Given the description of an element on the screen output the (x, y) to click on. 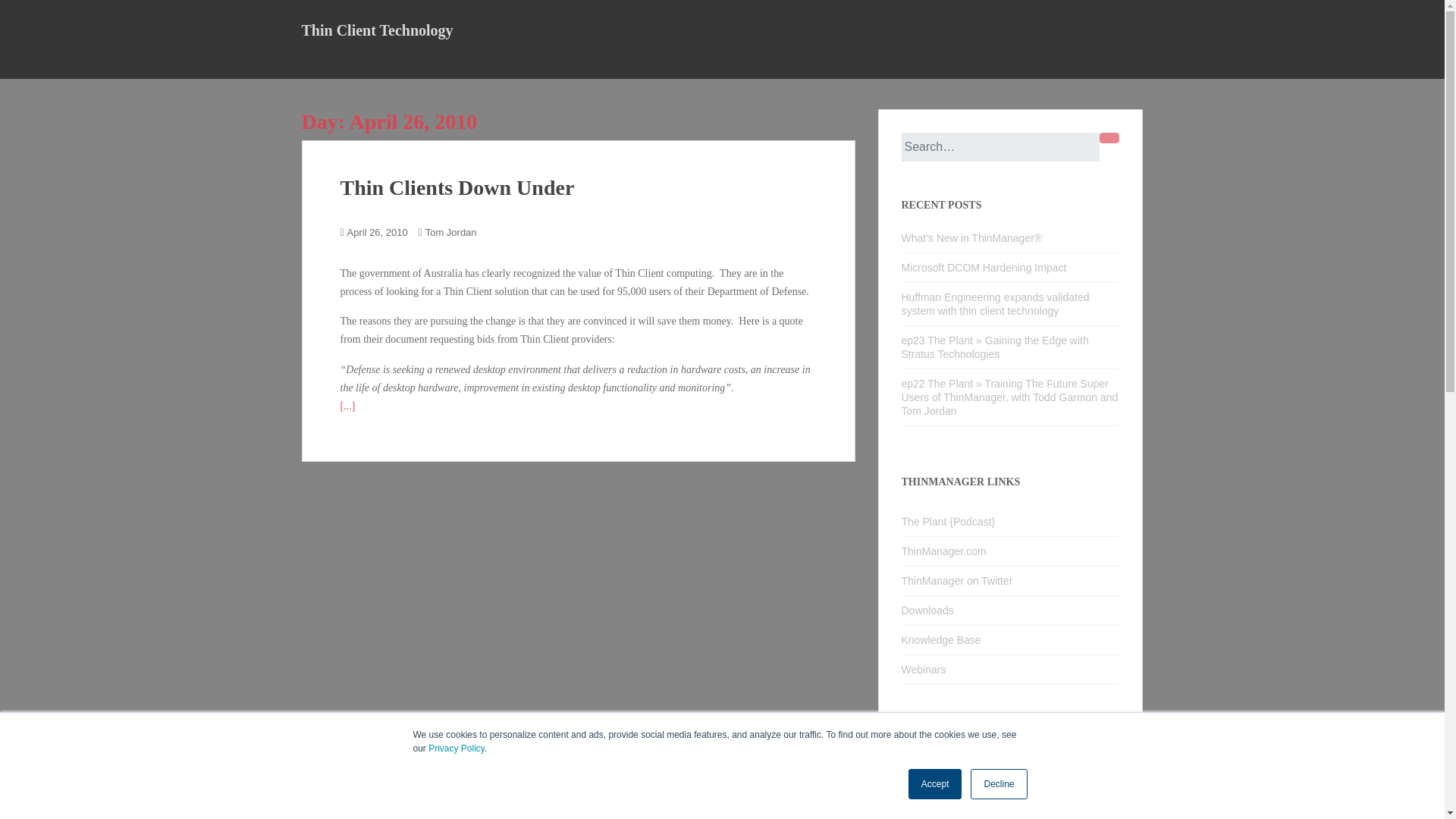
Search (1109, 137)
ThinManager.com (1010, 551)
Decline (998, 784)
Thin Client Technology (376, 29)
Accept (935, 784)
Thin Clients Down Under (456, 187)
App Story (935, 803)
Thin Client Technology (376, 29)
Microsoft DCOM Hardening Impact (983, 267)
Downloads (1010, 610)
TOGGLE NAVIGATION (311, 63)
Search for: (1000, 146)
Privacy Policy (456, 747)
Webinars (1010, 669)
